Given the description of an element on the screen output the (x, y) to click on. 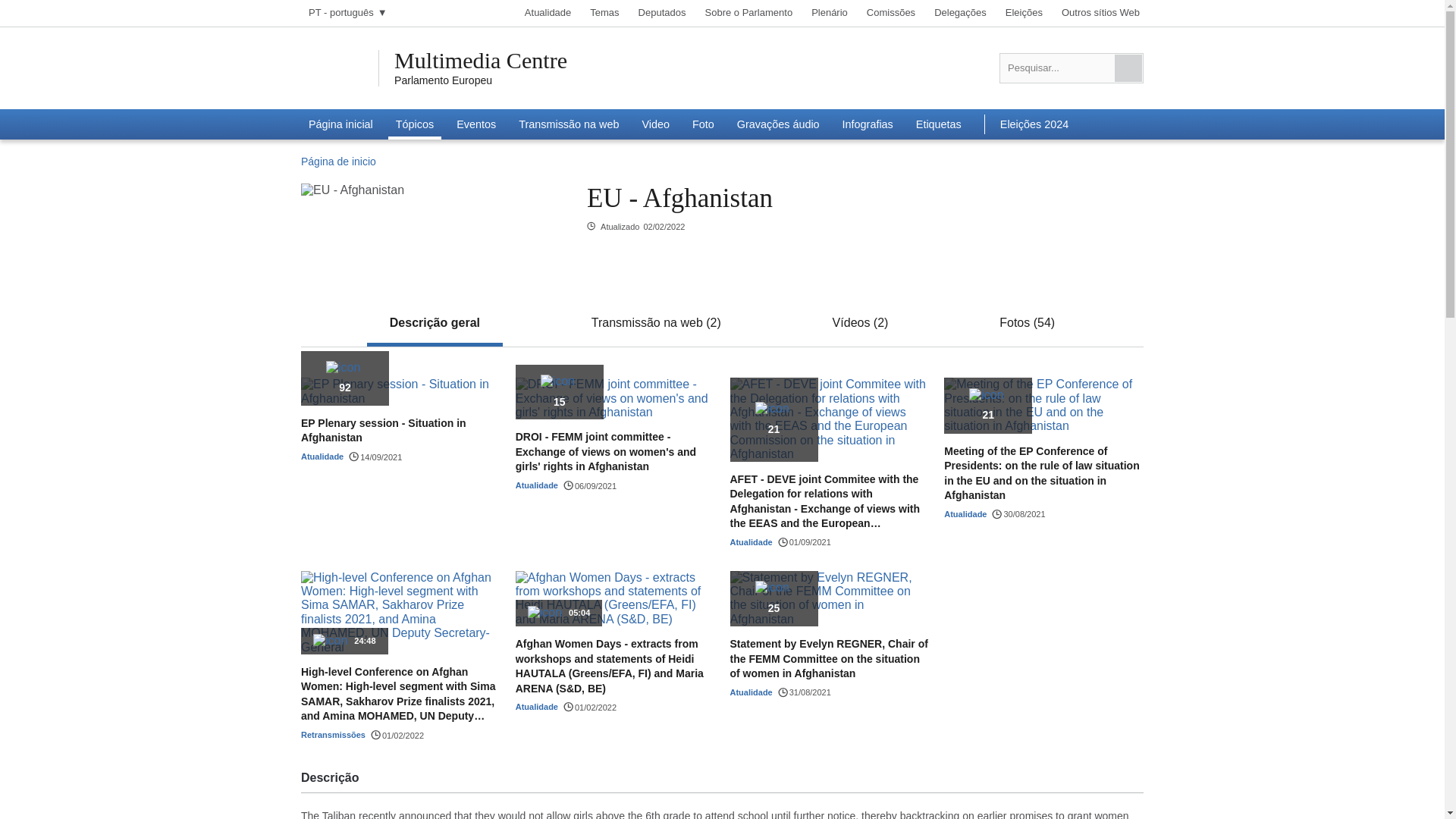
Deputados (662, 13)
Atualidade (548, 13)
Sobre o Parlamento (748, 13)
Sobre o Parlamento (748, 13)
Temas (604, 13)
Deputados (662, 13)
Temas (604, 13)
Atualidade (548, 13)
